Given the description of an element on the screen output the (x, y) to click on. 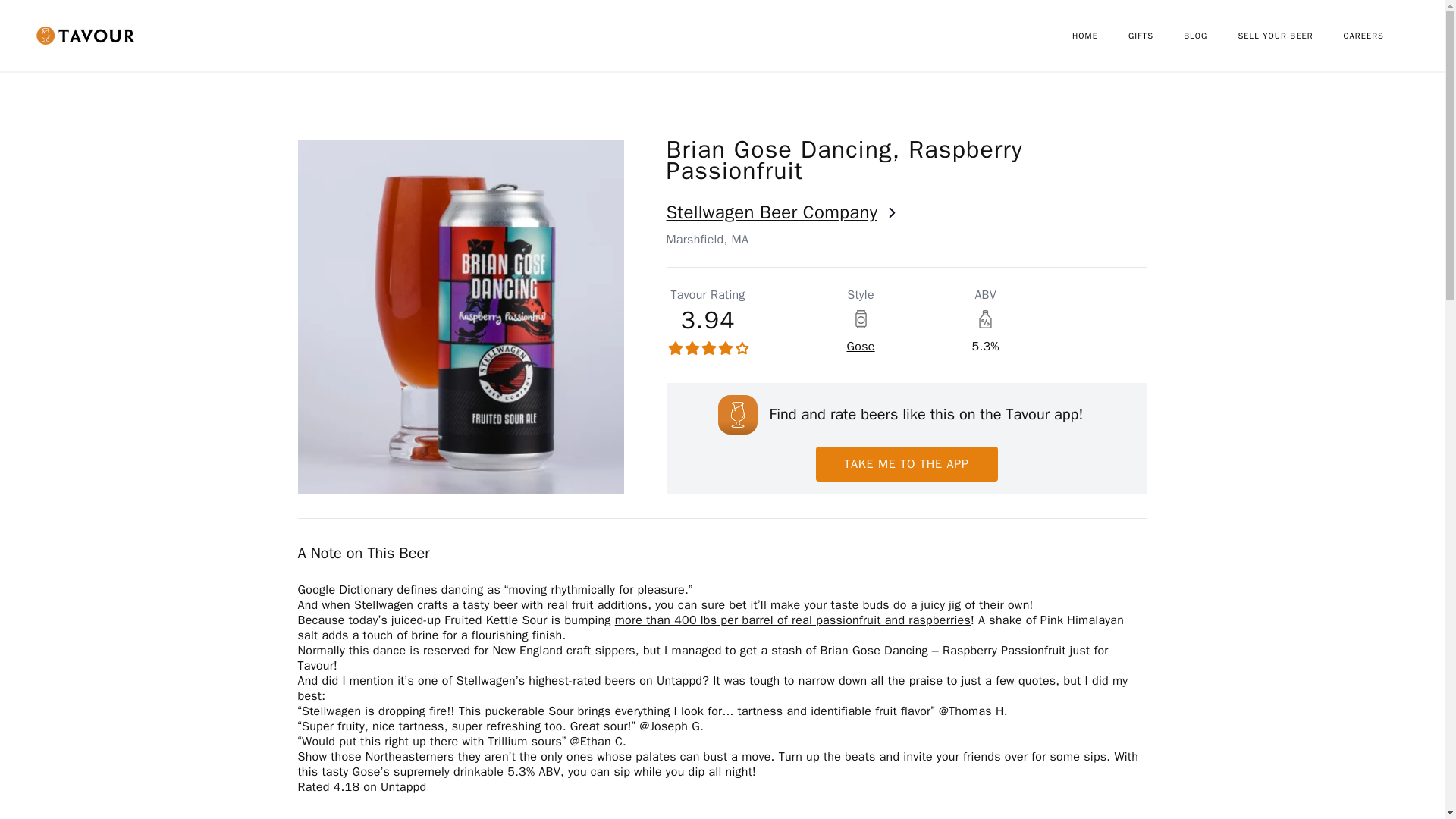
GIFTS (1155, 35)
gifts (1155, 35)
Stellwagen Beer Company (906, 211)
home (1099, 35)
TAKE ME TO THE APP (906, 463)
Gose (860, 346)
sell your beer (1289, 35)
BLOG (1210, 35)
careers (1378, 35)
HOME (1099, 35)
